Given the description of an element on the screen output the (x, y) to click on. 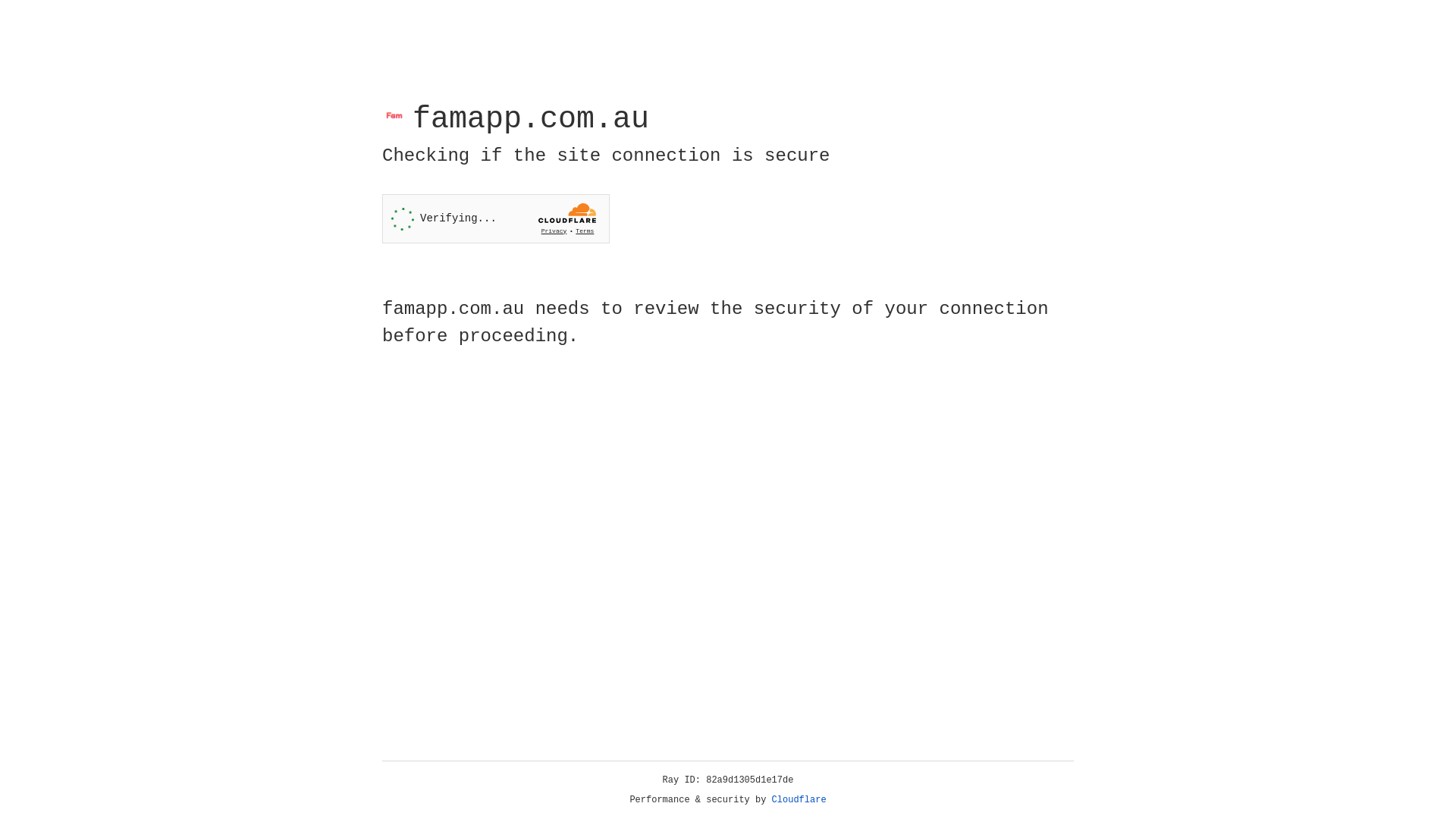
Cloudflare Element type: text (798, 799)
